Given the description of an element on the screen output the (x, y) to click on. 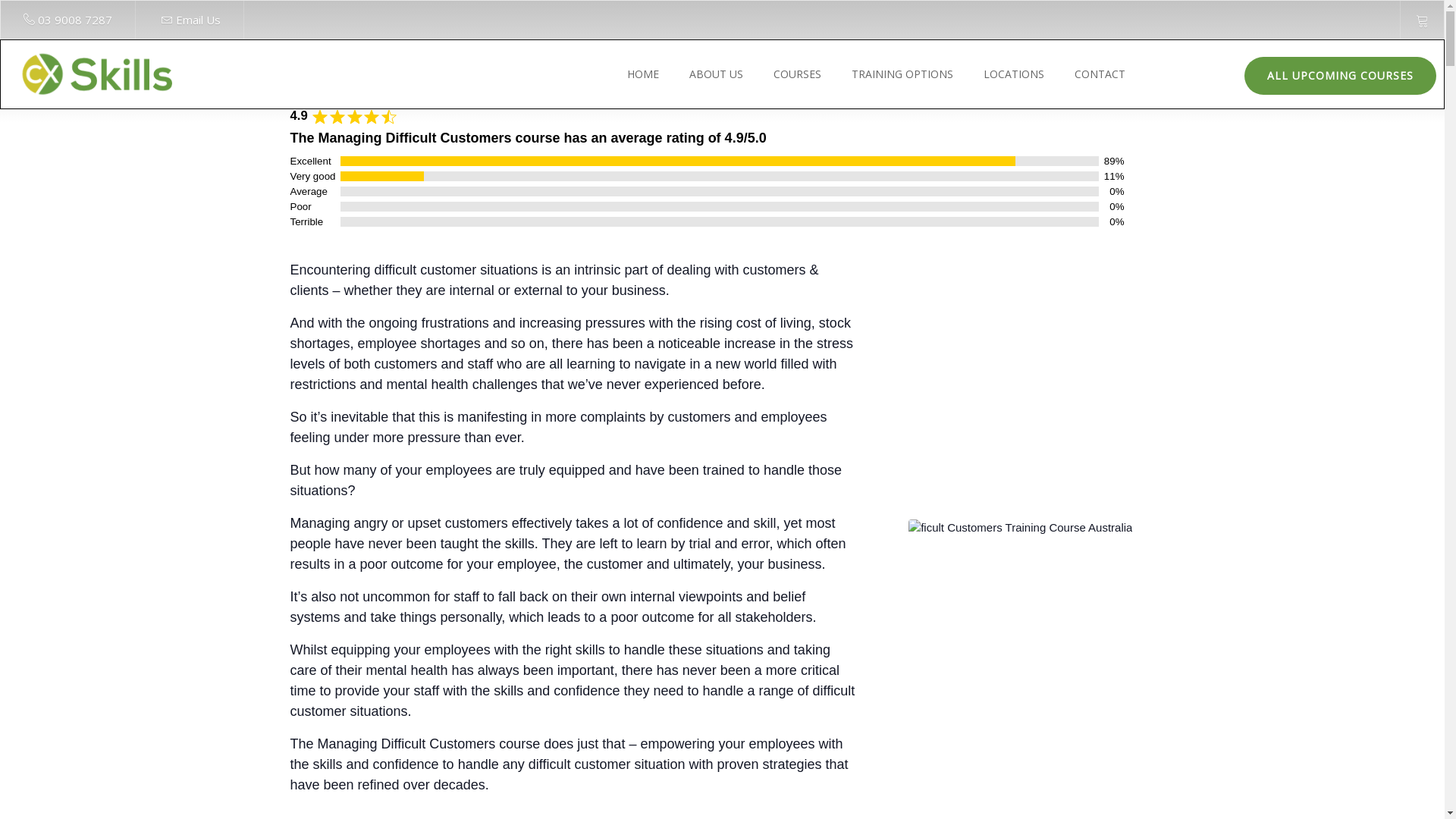
ABOUT US Element type: text (712, 74)
COURSES Element type: text (793, 74)
LOCATIONS Element type: text (1009, 74)
03 9008 7287 Element type: text (74, 19)
Home Element type: hover (95, 74)
ALL UPCOMING COURSES Element type: text (1340, 75)
Email Us Element type: text (197, 19)
TRAINING OPTIONS Element type: text (898, 74)
HOME Element type: text (639, 74)
CONTACT Element type: text (1095, 74)
Managing Difficult Customers Training Course Australia Element type: hover (1020, 527)
